Given the description of an element on the screen output the (x, y) to click on. 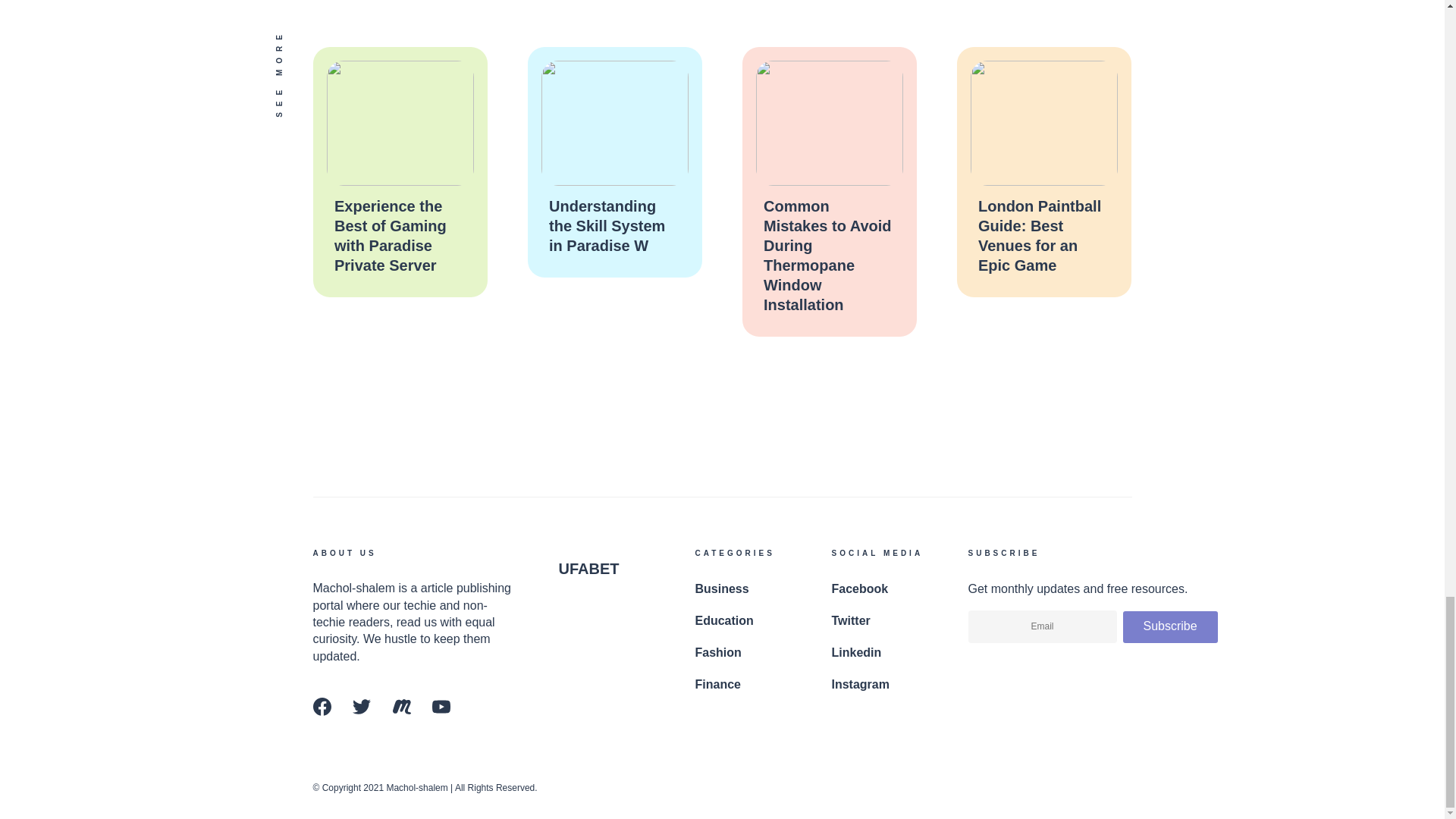
London Paintball Guide: Best Venues for an Epic Game (1039, 235)
Understanding the Skill System in Paradise W (606, 225)
Experience the Best of Gaming with Paradise Private Server (389, 235)
